Given the description of an element on the screen output the (x, y) to click on. 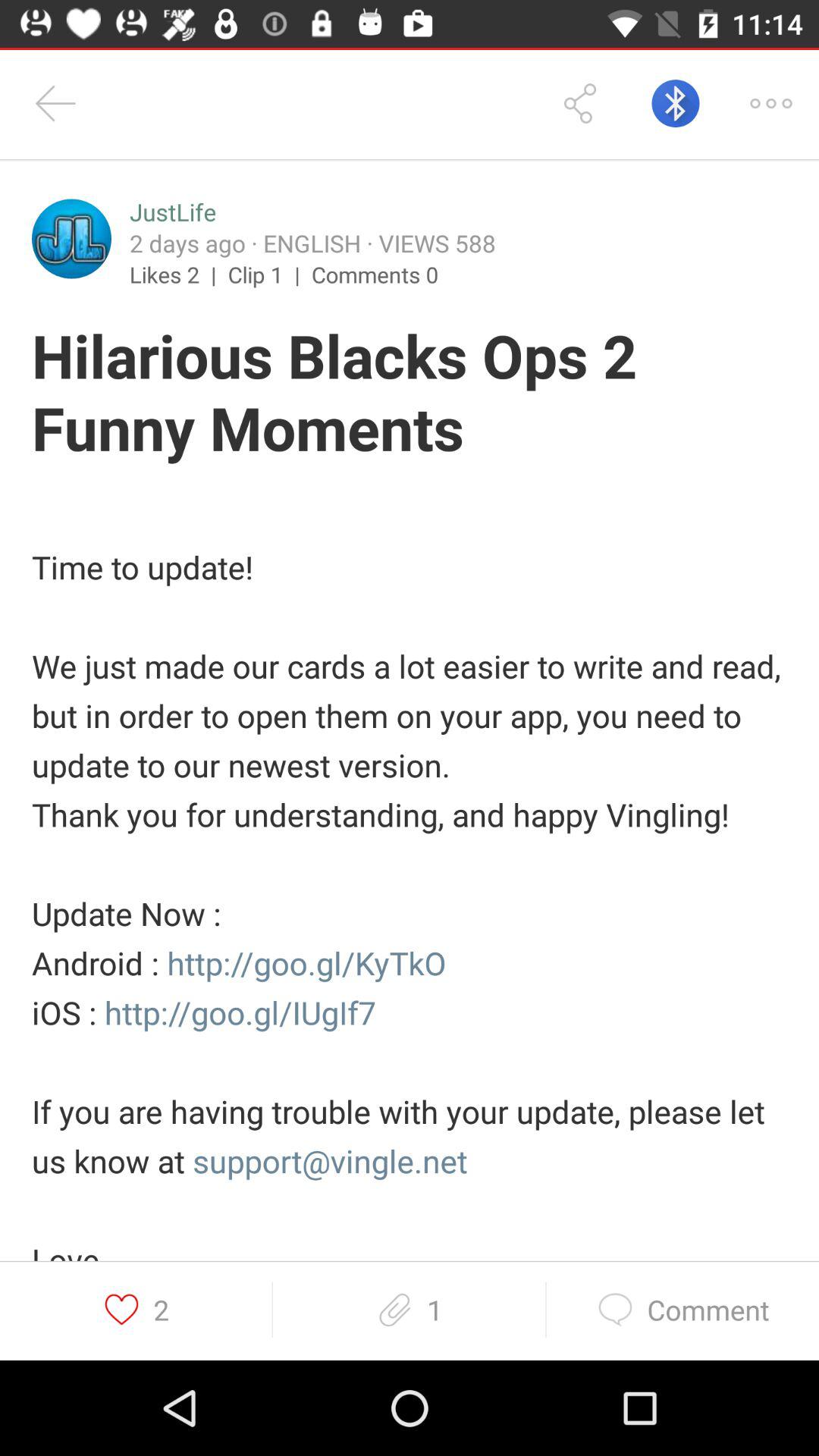
turn off justlife icon (172, 212)
